Given the description of an element on the screen output the (x, y) to click on. 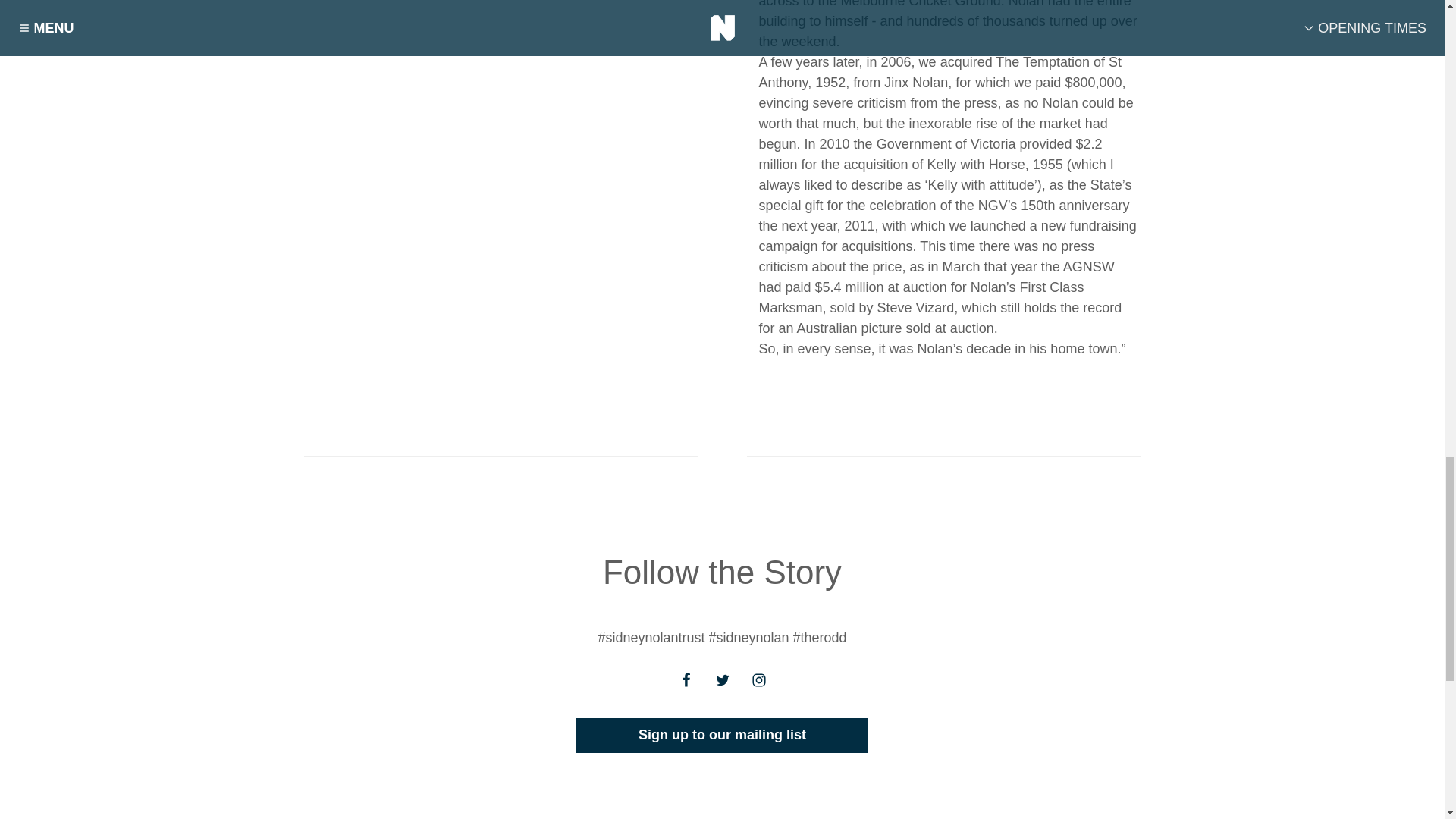
Facebook (684, 679)
Instagram (757, 679)
Facebook (684, 688)
Sign up to our mailing list (721, 735)
Twitter (721, 688)
Twitter (721, 679)
Instagram (757, 688)
